Given the description of an element on the screen output the (x, y) to click on. 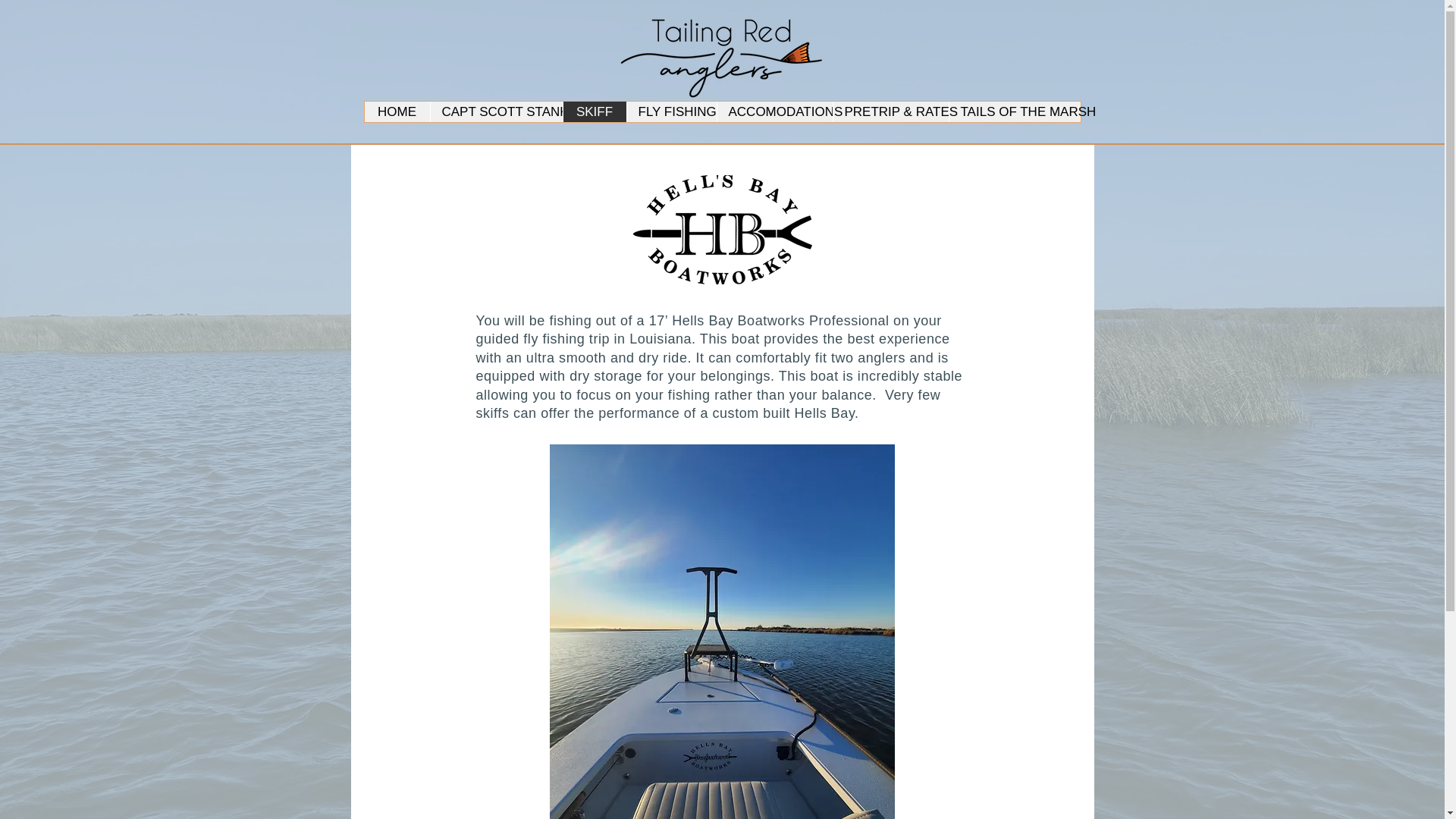
SKIFF (594, 111)
HOME (396, 111)
TAILS OF THE MARSH (1013, 111)
ACCOMODATIONS (773, 111)
FLY FISHING (671, 111)
CAPT SCOTT STANKO (495, 111)
